Given the description of an element on the screen output the (x, y) to click on. 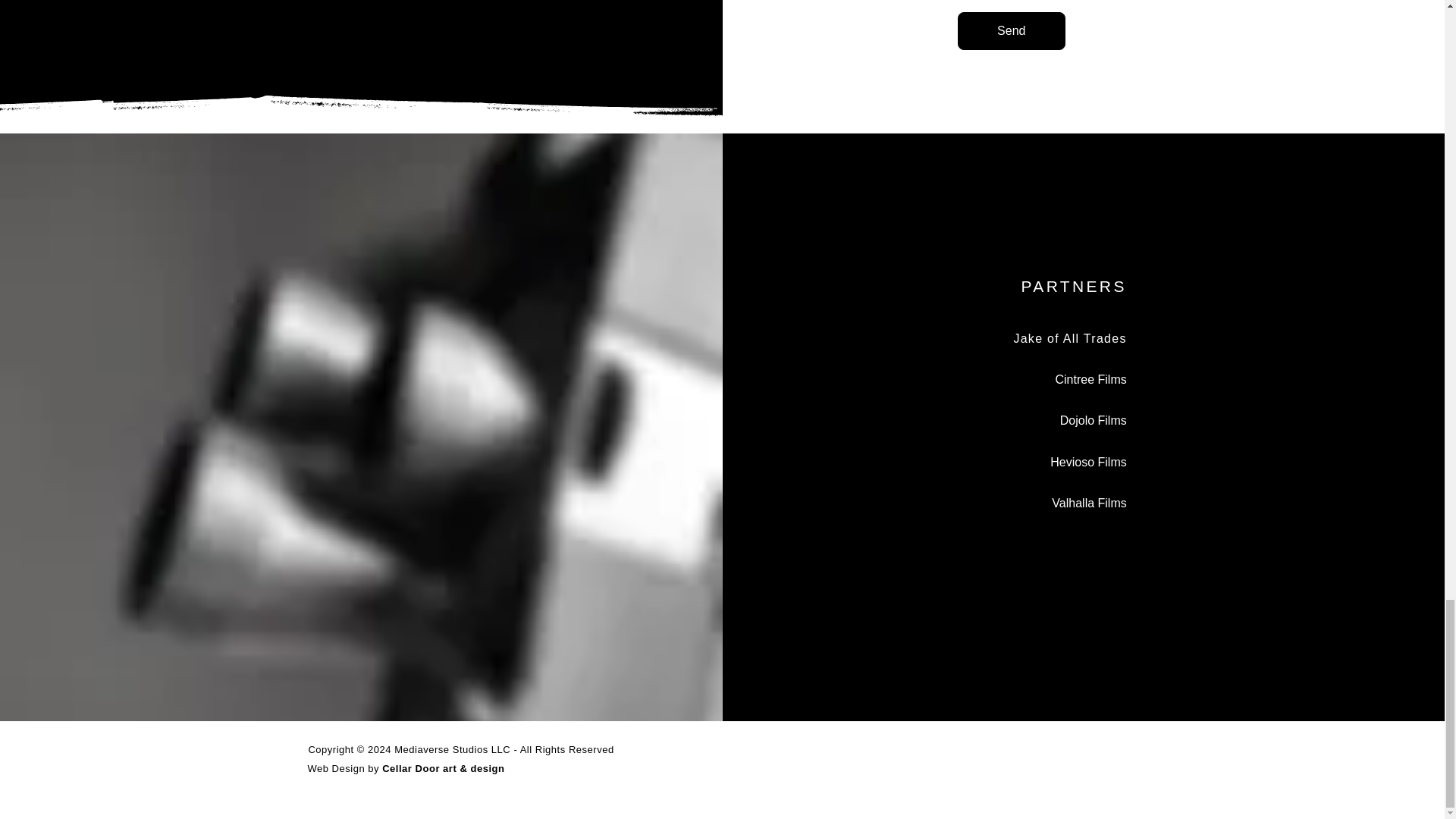
Hevioso Films (1087, 461)
Jake of All Trades (1069, 338)
Dojolo Films (1092, 420)
Cintree Films (1090, 379)
Send (1011, 30)
